Given the description of an element on the screen output the (x, y) to click on. 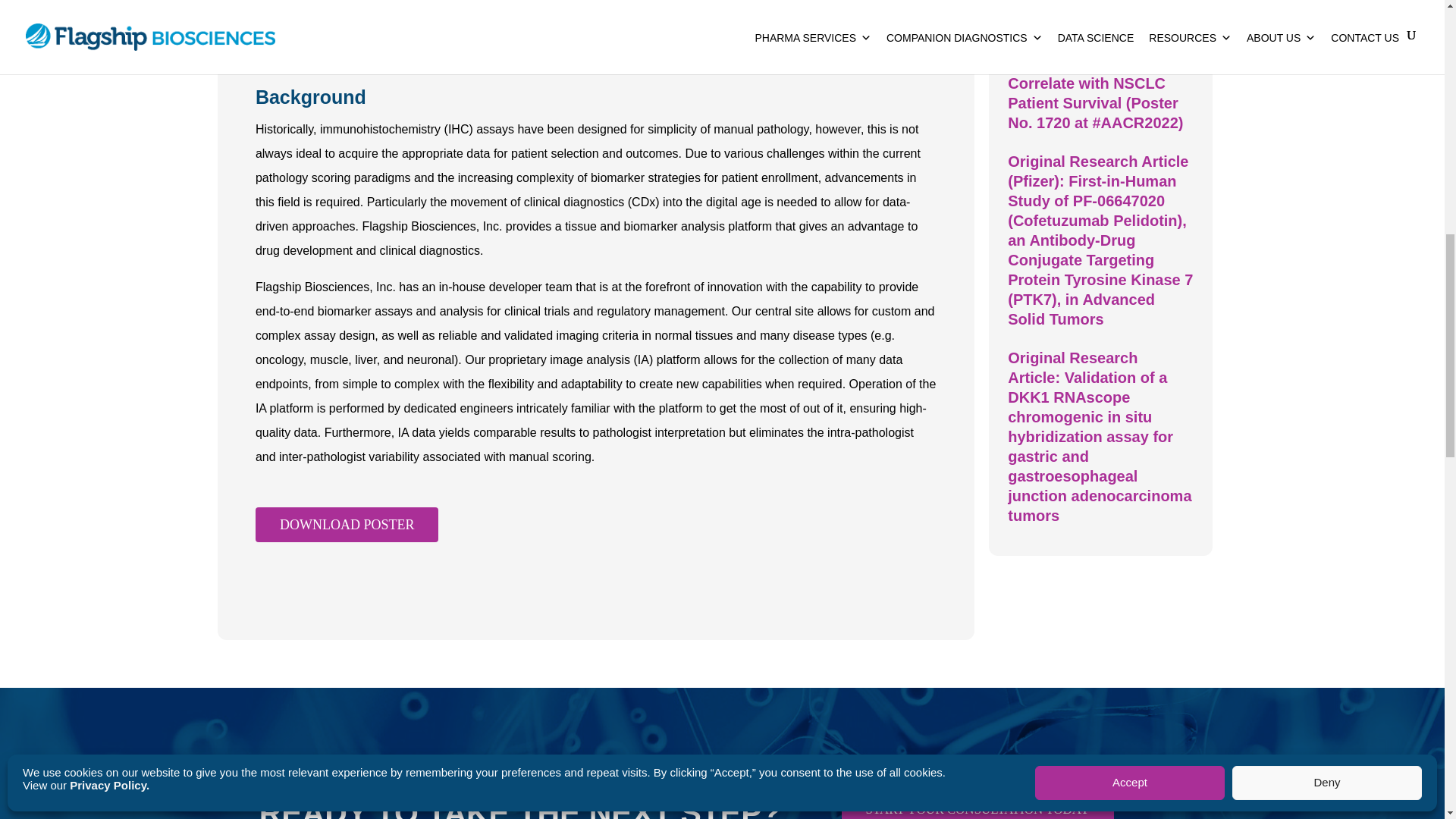
Privacy Policy. (109, 375)
Deny (1326, 373)
Accept (1129, 373)
